Given the description of an element on the screen output the (x, y) to click on. 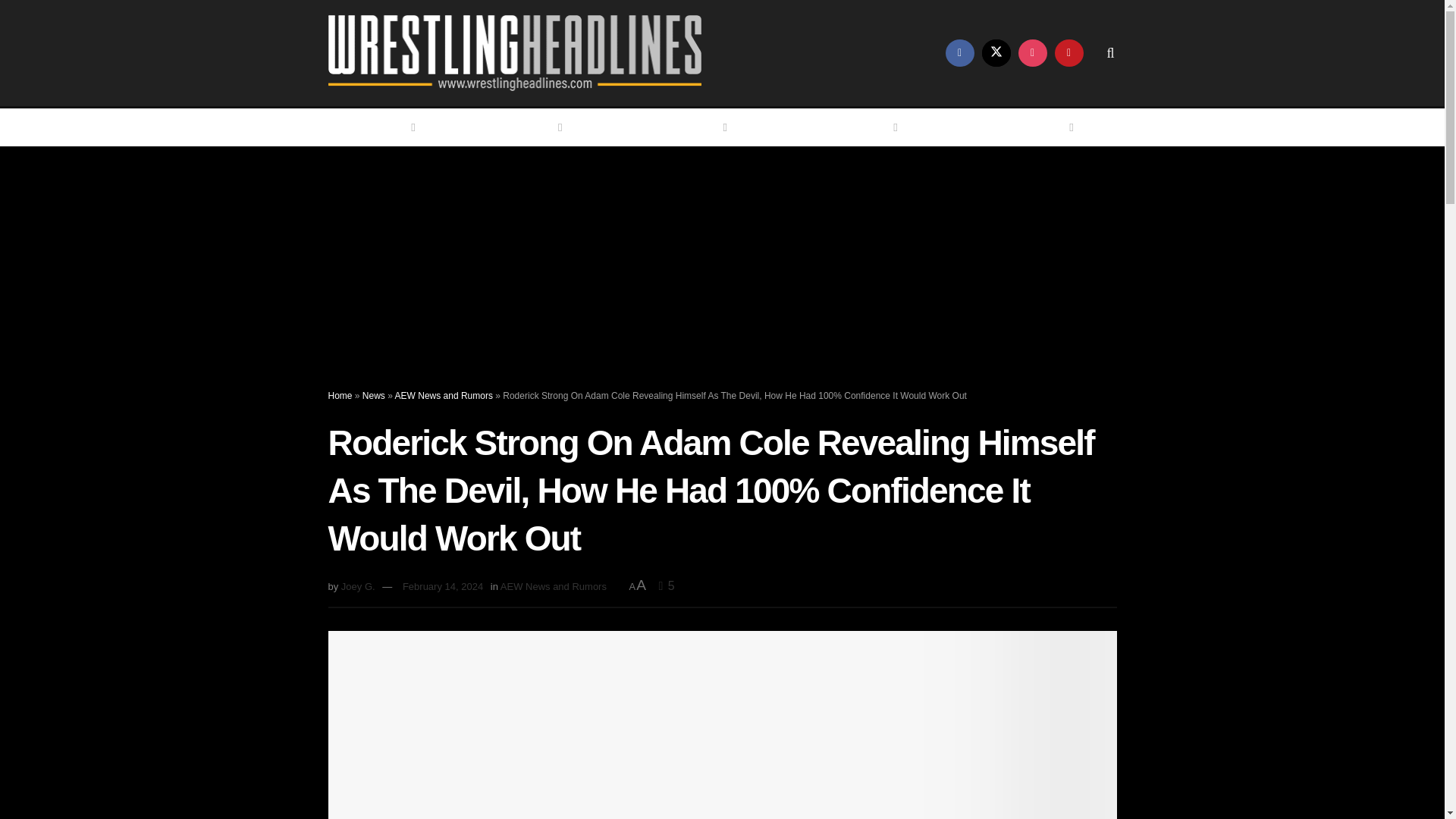
COLUMNS (863, 127)
NEWS (539, 127)
RESULTS (695, 127)
HOME (392, 127)
